Given the description of an element on the screen output the (x, y) to click on. 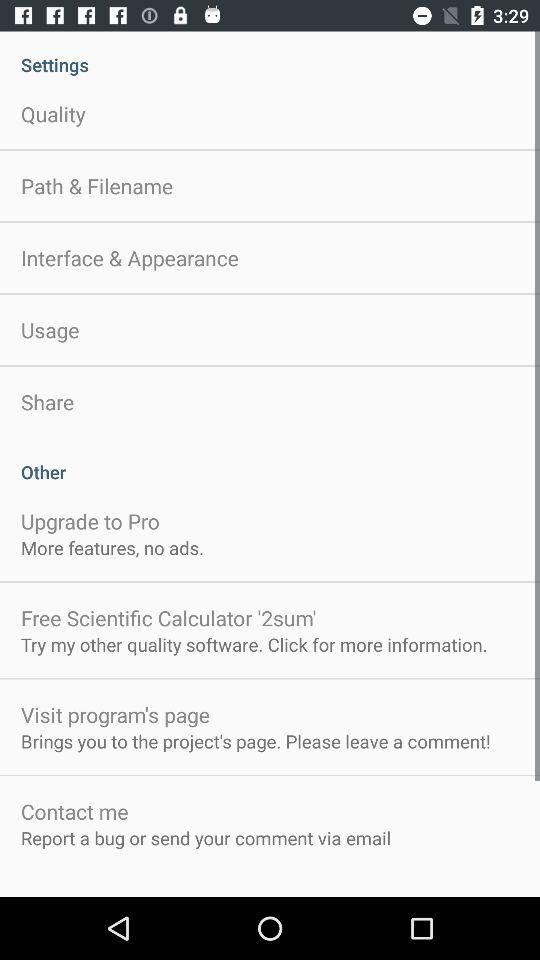
swipe until settings (270, 54)
